Given the description of an element on the screen output the (x, y) to click on. 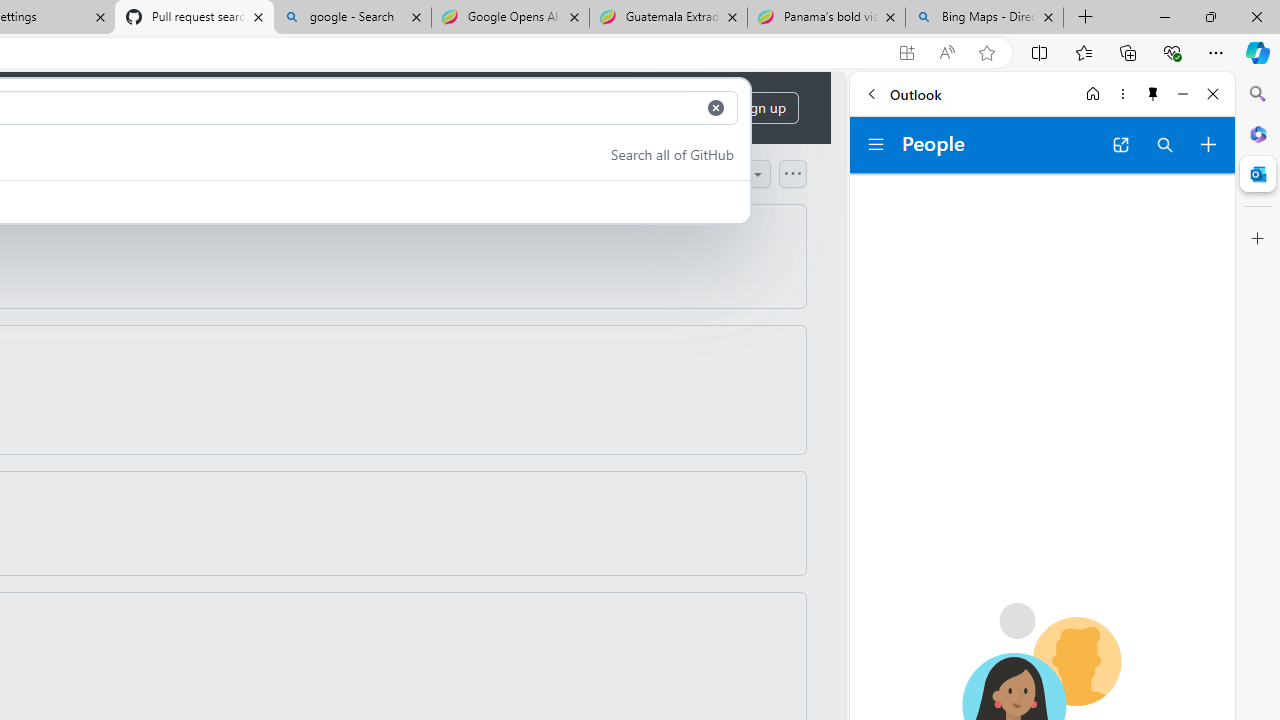
Sign up (761, 107)
Folder navigation (876, 144)
Sort by: Best match (700, 173)
Google Opens AI Academy for Startups - Nearshore Americas (509, 17)
App available. Install GitHub (906, 53)
